Given the description of an element on the screen output the (x, y) to click on. 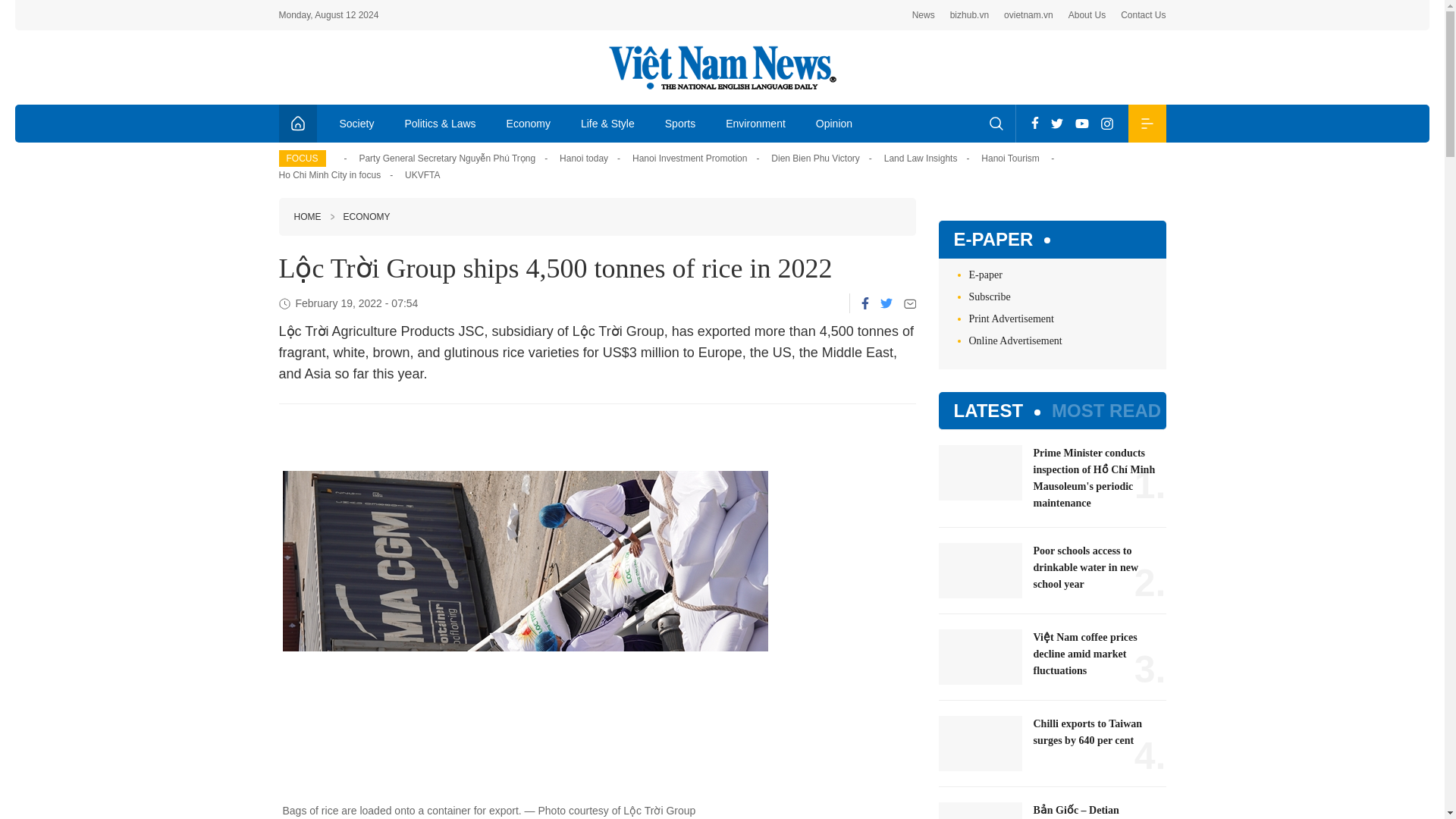
Sports (679, 123)
Facebook (1035, 123)
bizhub.vn (969, 15)
Contact Us (1143, 15)
Opinion (833, 123)
Instagram (1106, 123)
Email (909, 303)
Environment (755, 123)
Twitter (885, 303)
Twitter (1056, 122)
